Given the description of an element on the screen output the (x, y) to click on. 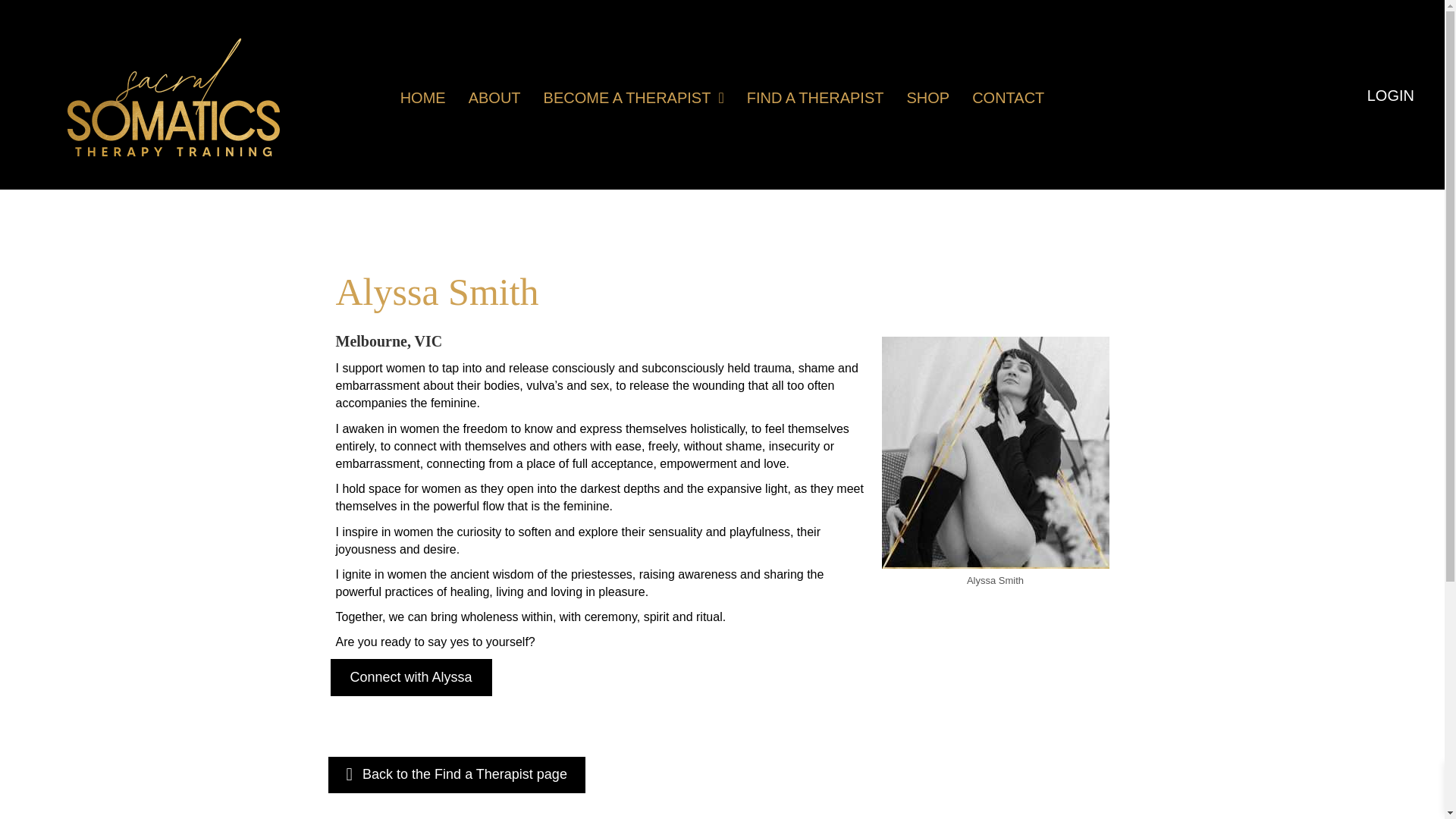
CONTACT (1007, 96)
FIND A THERAPIST (815, 96)
BECOME A THERAPIST (633, 96)
HOME (422, 96)
ABOUT (494, 96)
SHOP (927, 96)
Sacral Somatics Logo (172, 97)
Back to the Find a Therapist page (456, 774)
Connect with Alyssa (411, 677)
